Given the description of an element on the screen output the (x, y) to click on. 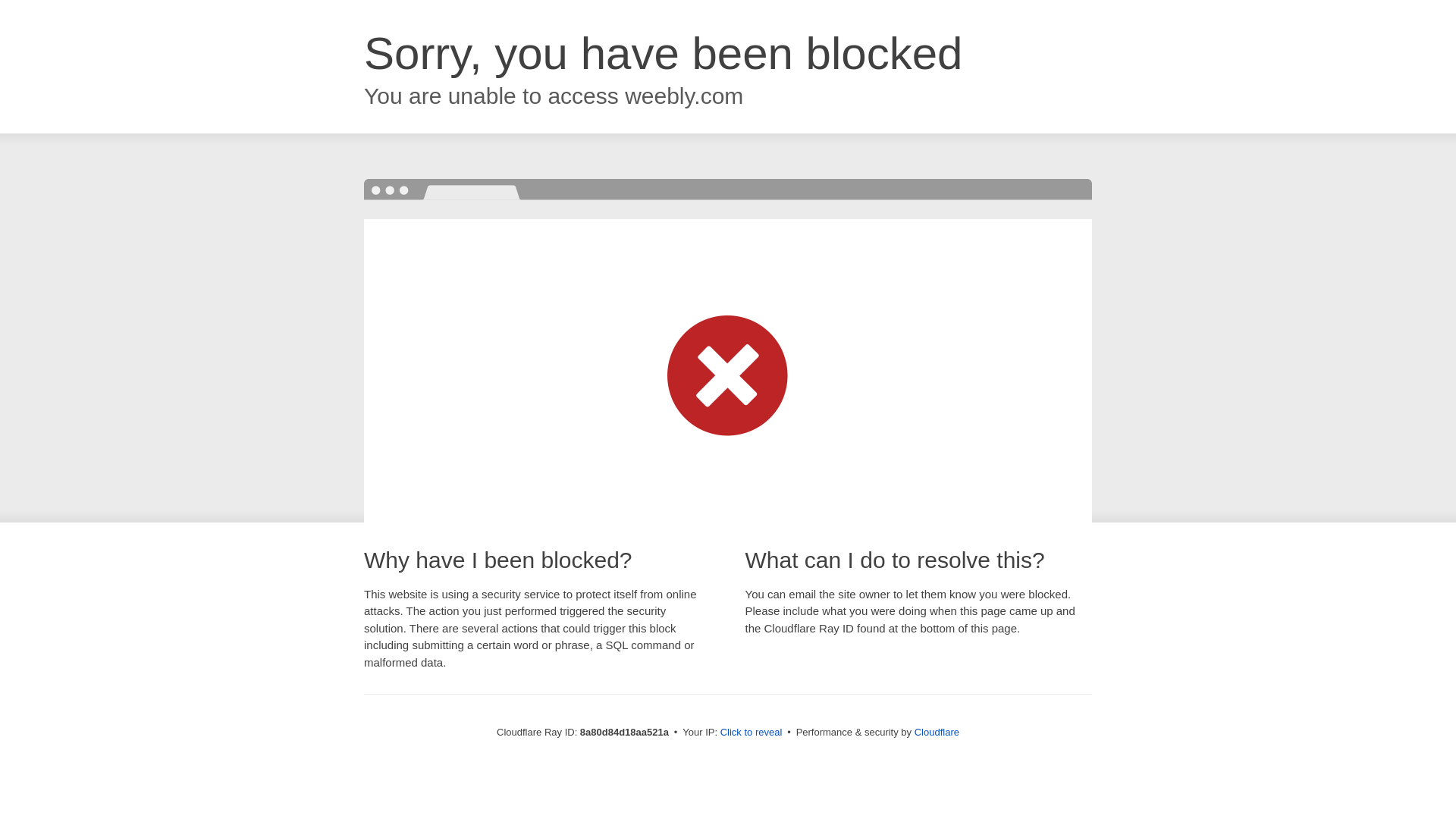
Cloudflare (936, 731)
Click to reveal (751, 732)
